Given the description of an element on the screen output the (x, y) to click on. 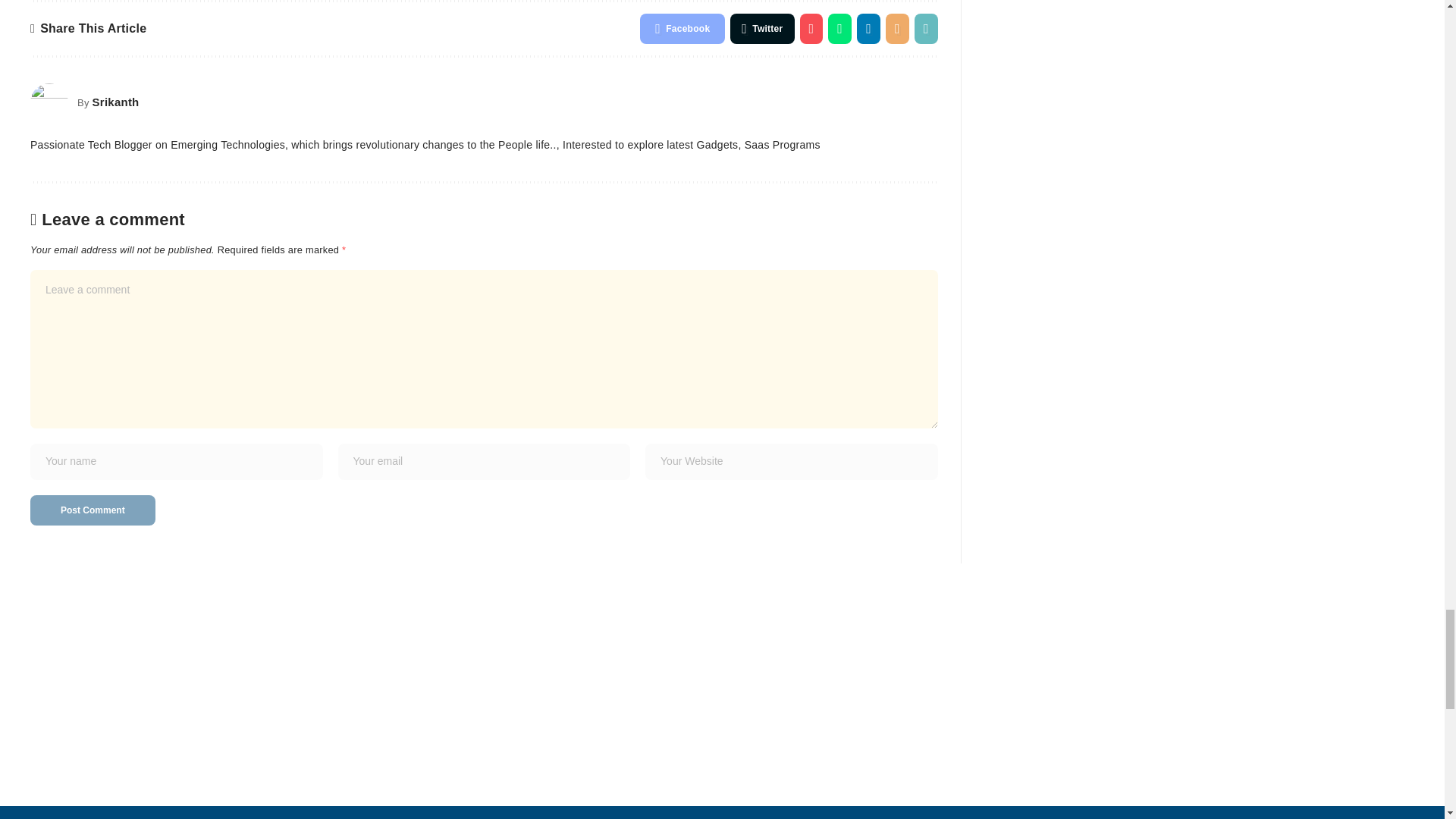
Post Comment (92, 510)
